Given the description of an element on the screen output the (x, y) to click on. 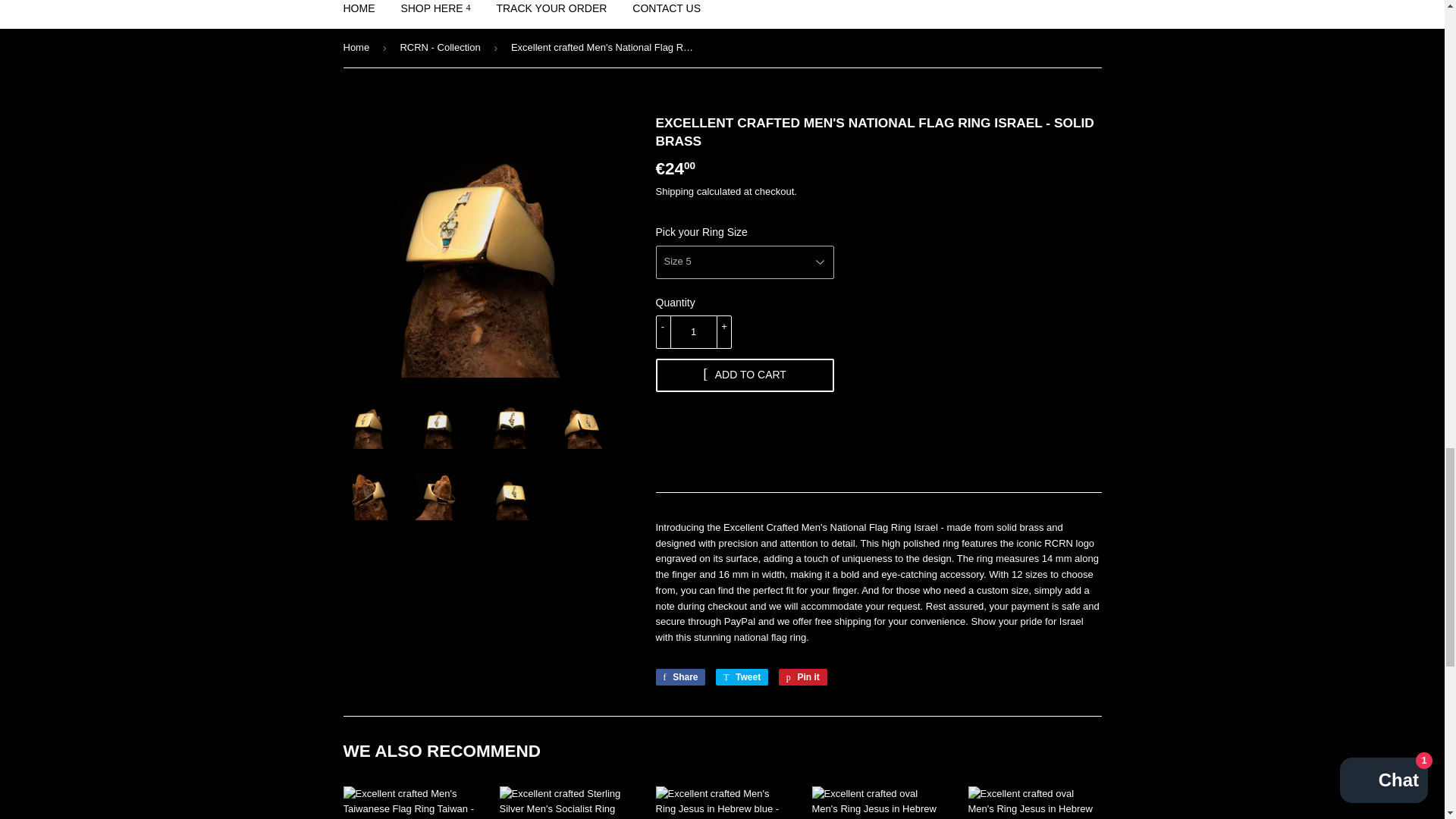
1 (692, 331)
TRACK YOUR ORDER (550, 13)
Pin on Pinterest (802, 677)
SHOP HERE (434, 13)
HOME (359, 13)
Tweet on Twitter (742, 677)
RCRN - Collection (441, 47)
CONTACT US (666, 13)
Shipping (674, 191)
ADD TO CART (743, 375)
Share on Facebook (679, 677)
